Given the description of an element on the screen output the (x, y) to click on. 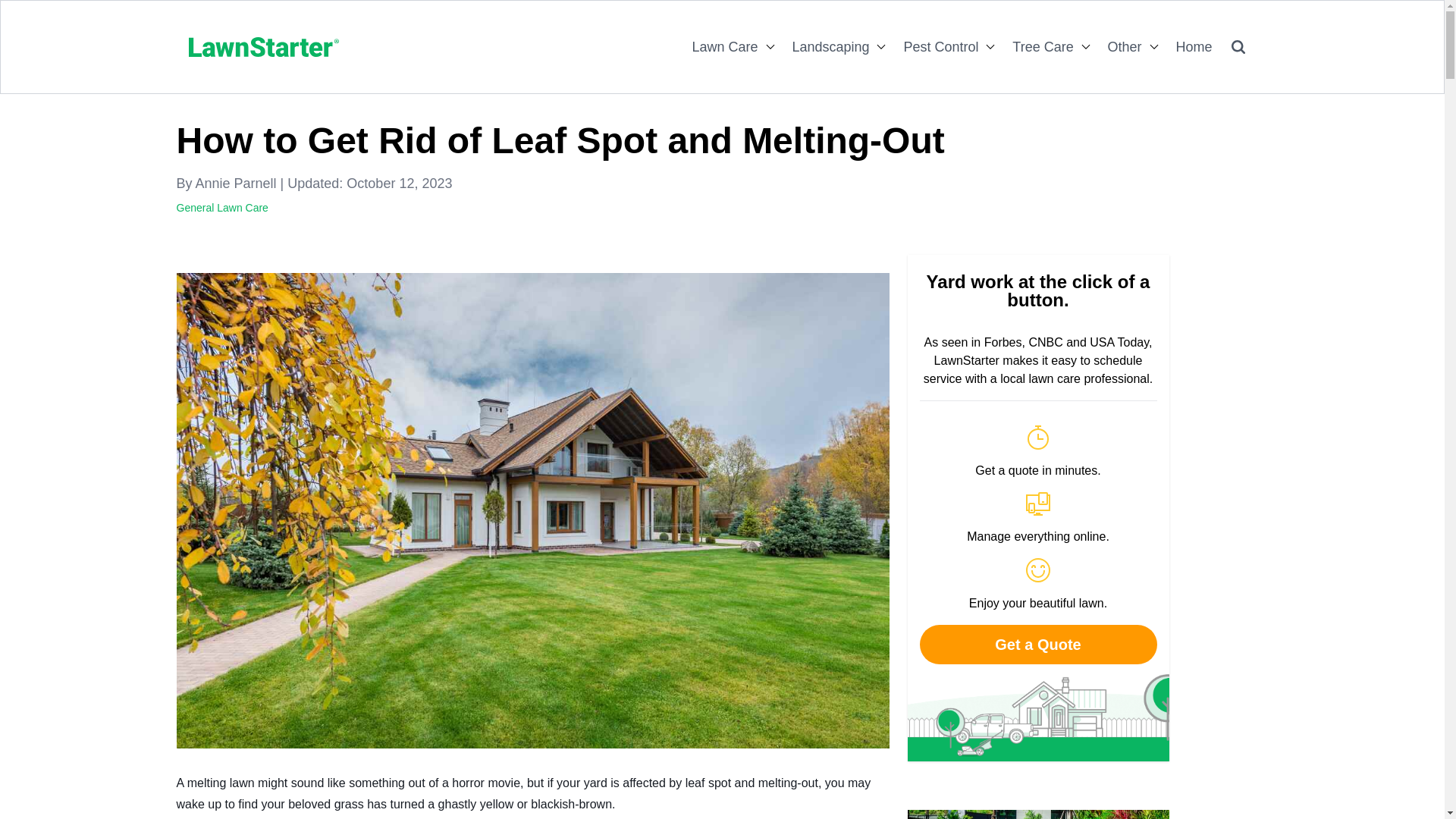
Lawn Care (722, 46)
General Lawn Care (221, 207)
Landscaping (828, 46)
Pest Control (938, 46)
Other (1123, 46)
Tree Care (1040, 46)
Home (1191, 46)
